Given the description of an element on the screen output the (x, y) to click on. 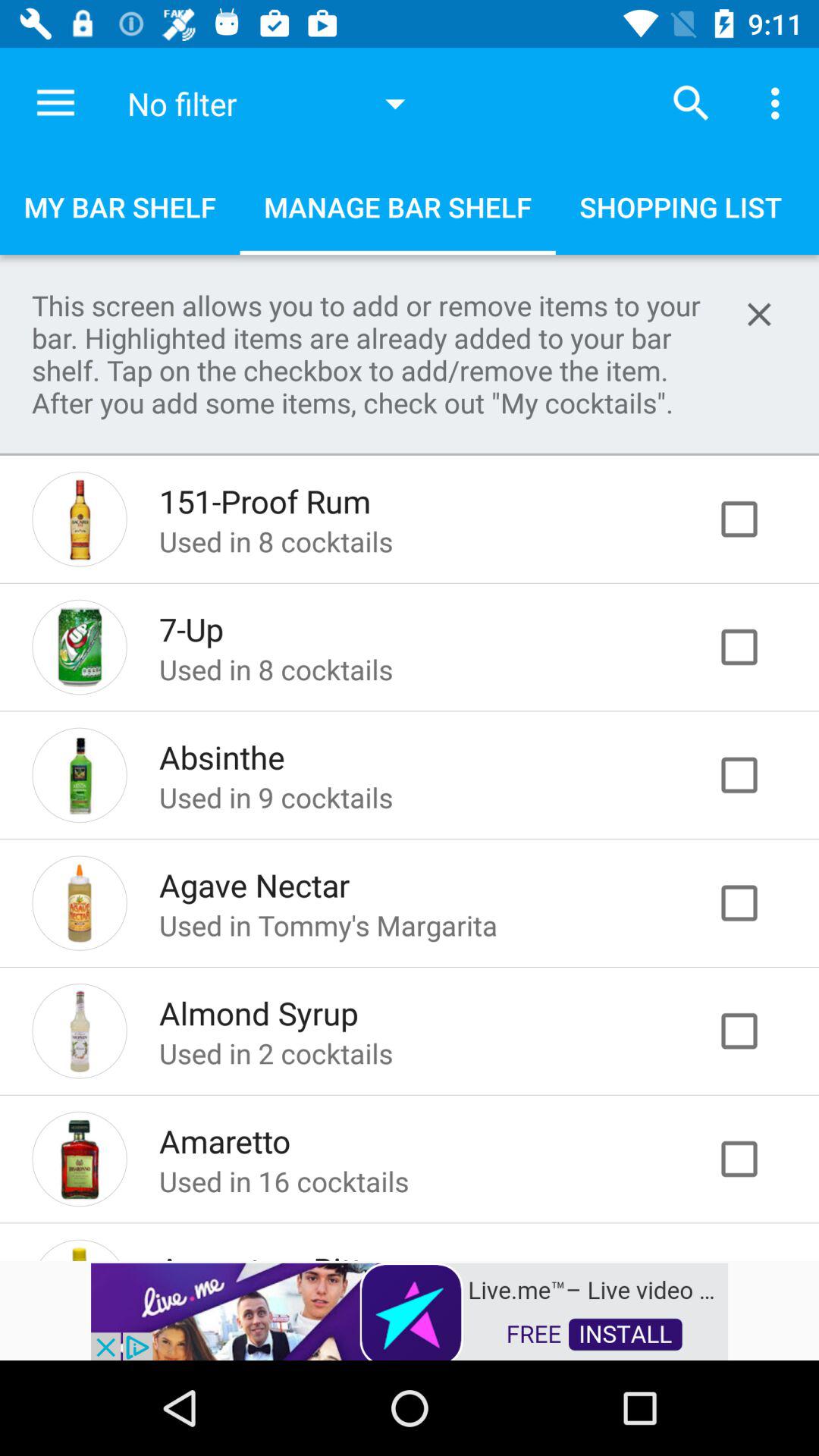
check (755, 1030)
